Given the description of an element on the screen output the (x, y) to click on. 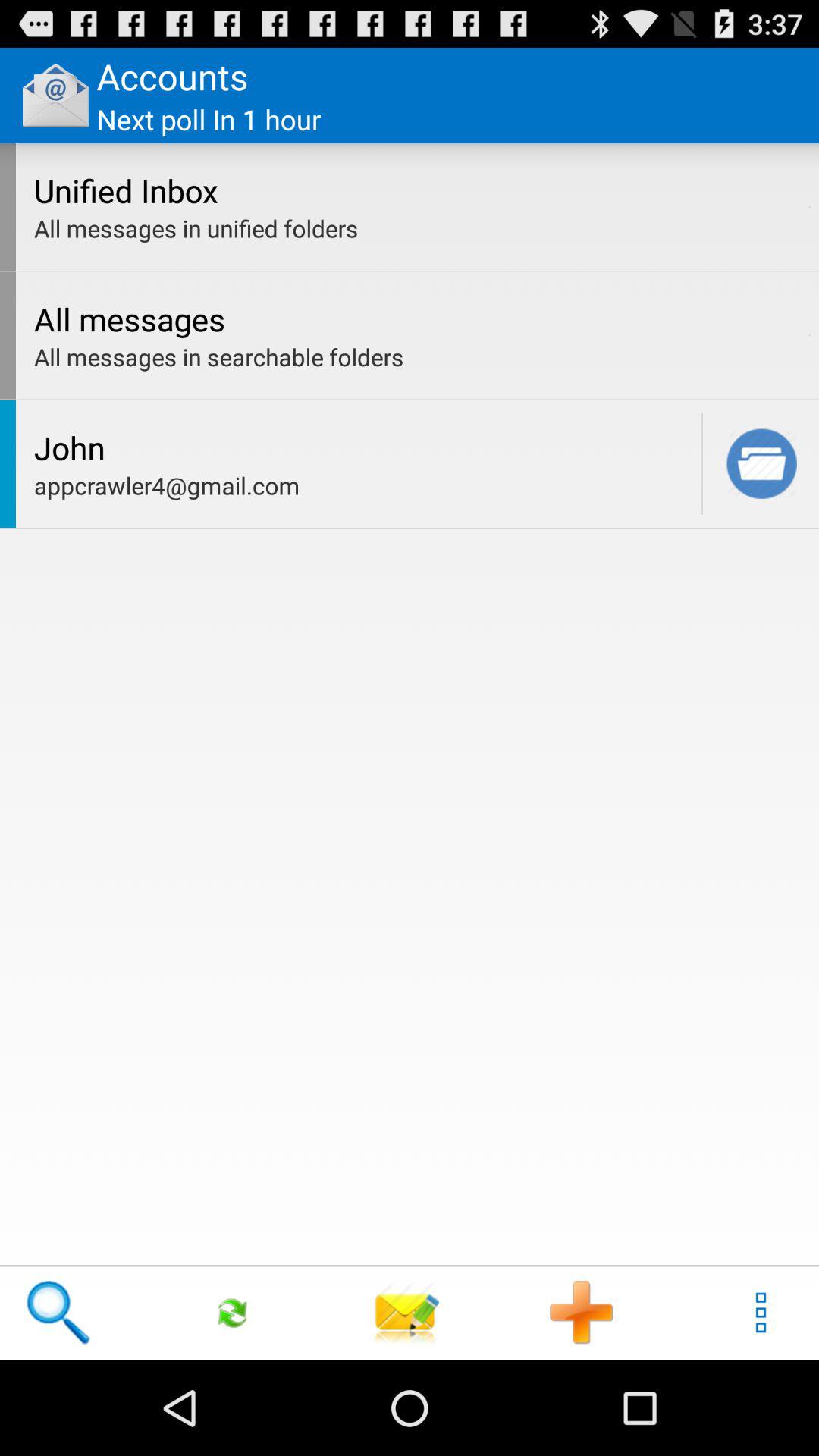
turn off the item next to john (701, 463)
